Given the description of an element on the screen output the (x, y) to click on. 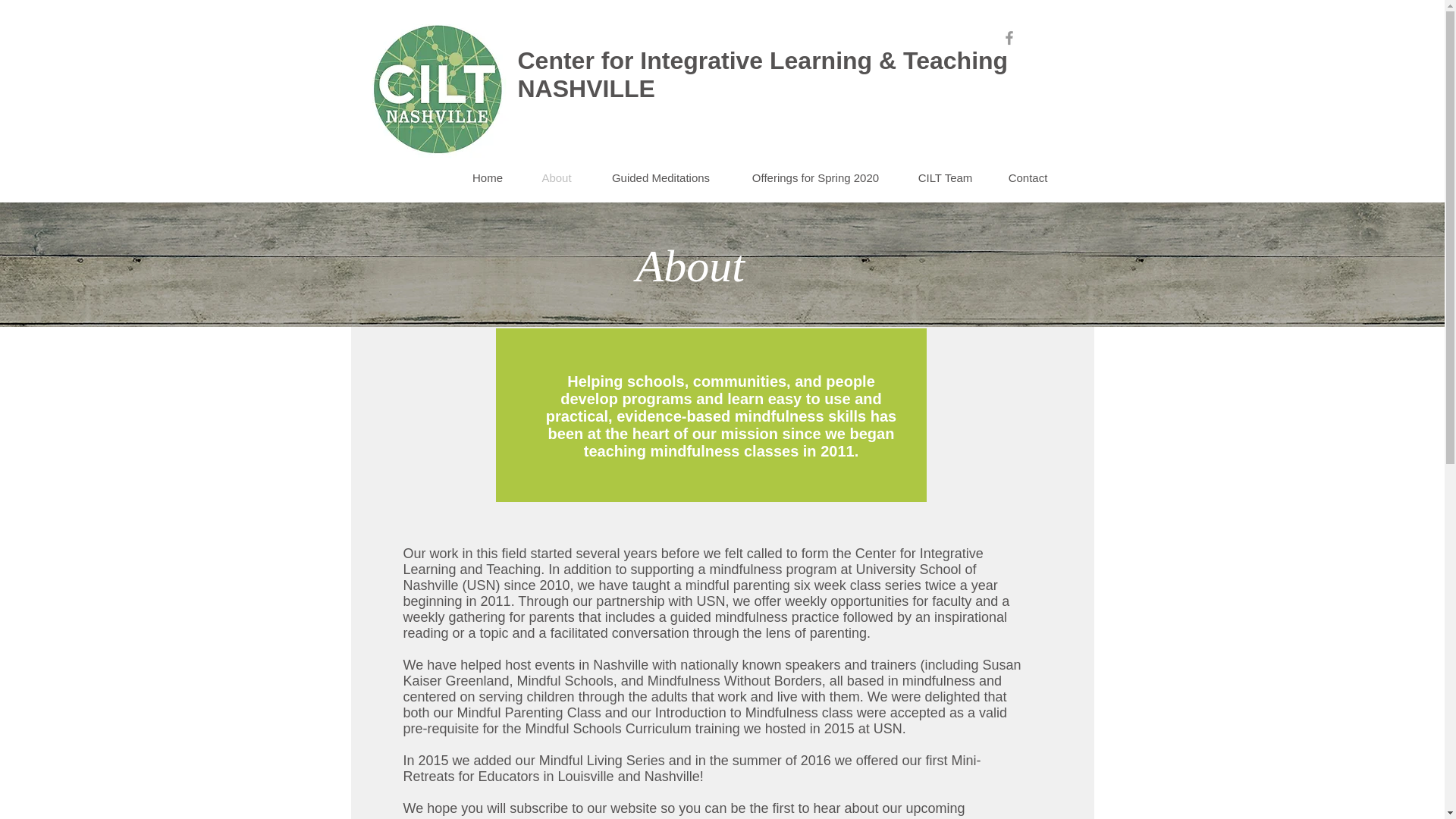
CILT Team (945, 178)
Home (487, 178)
About (556, 178)
Offerings for Spring 2020 (815, 178)
Guided Meditations (660, 178)
Contact (1027, 178)
